Given the description of an element on the screen output the (x, y) to click on. 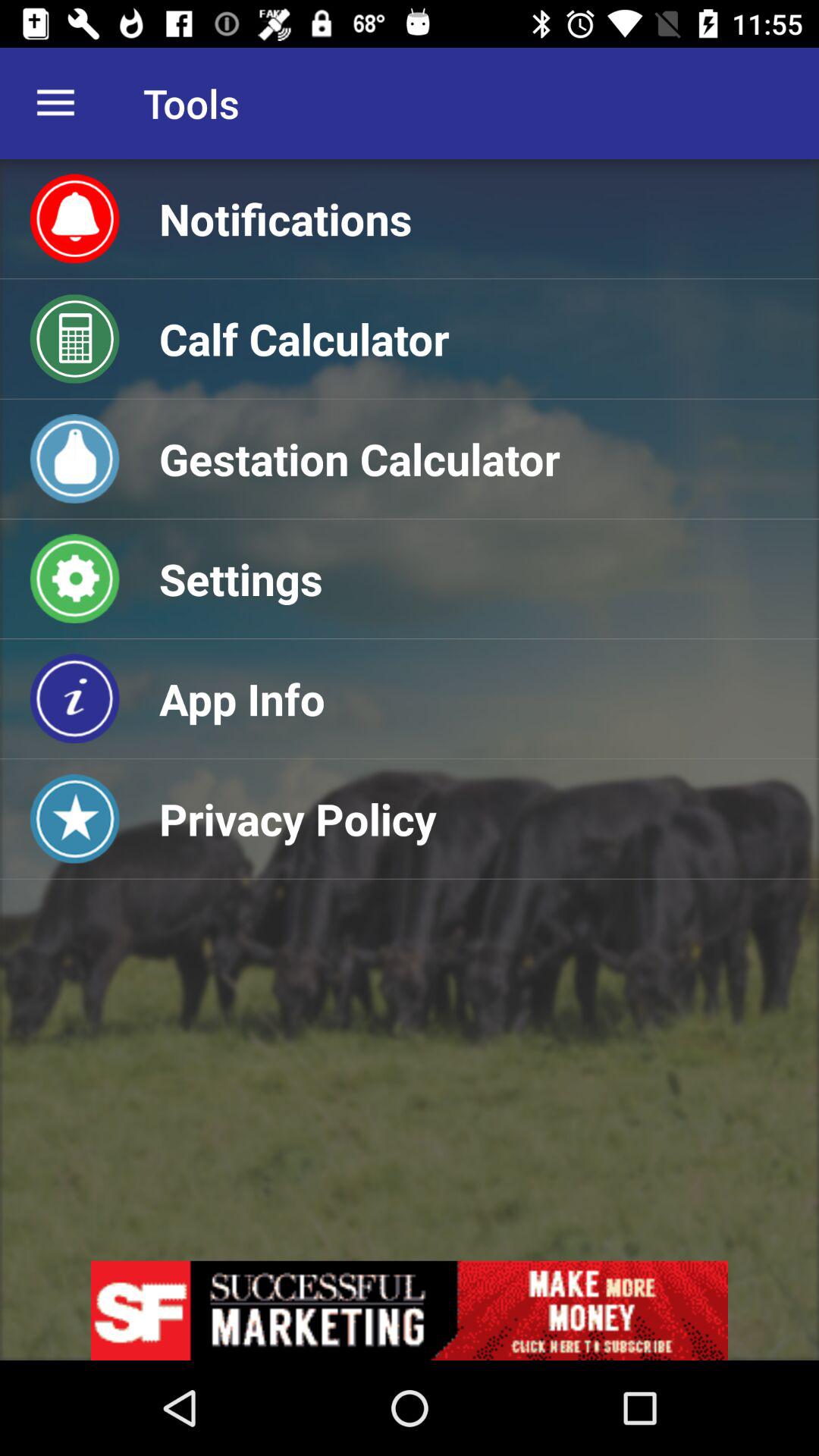
advertisement link (409, 1310)
